Given the description of an element on the screen output the (x, y) to click on. 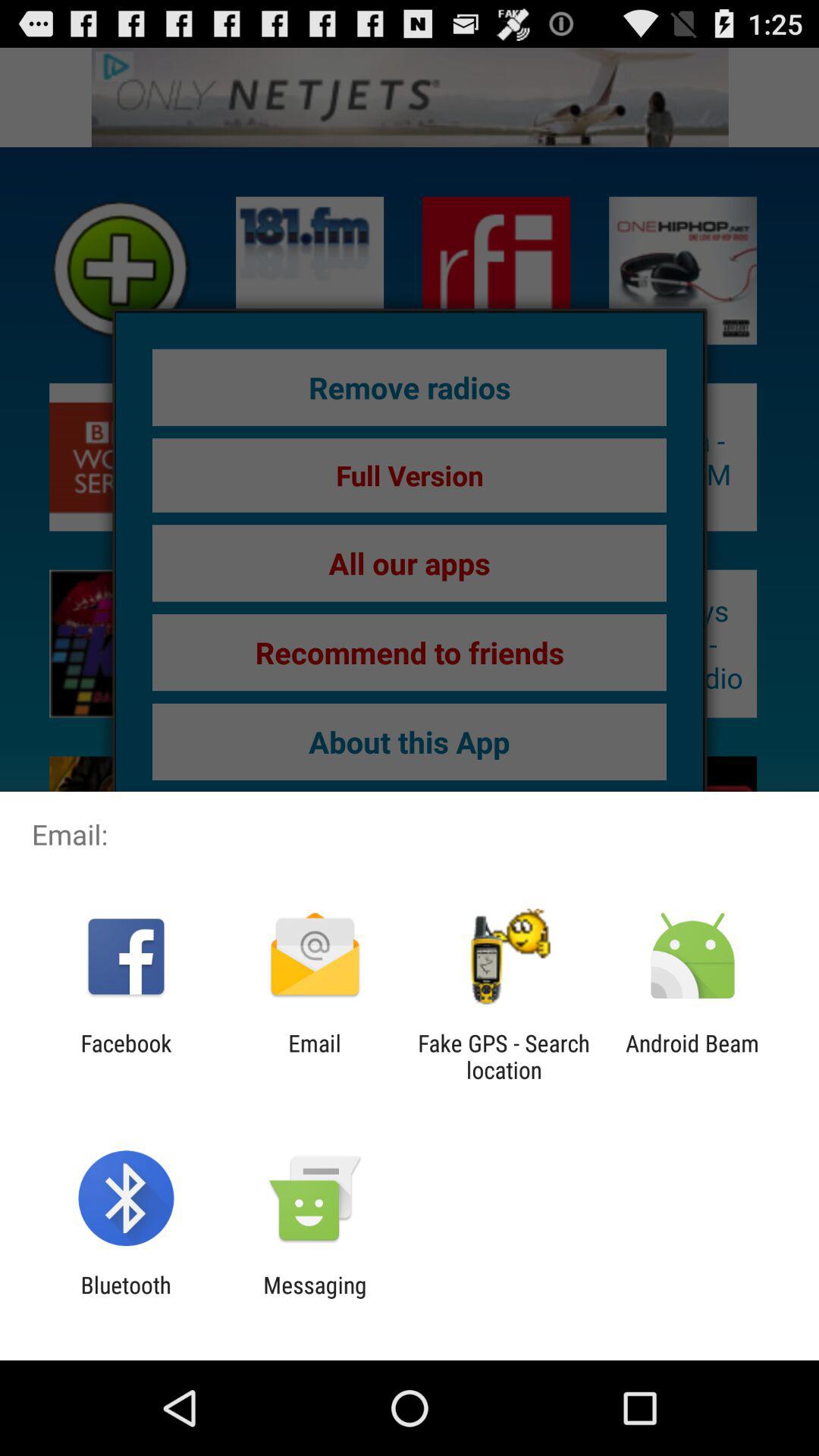
click the bluetooth (125, 1298)
